Given the description of an element on the screen output the (x, y) to click on. 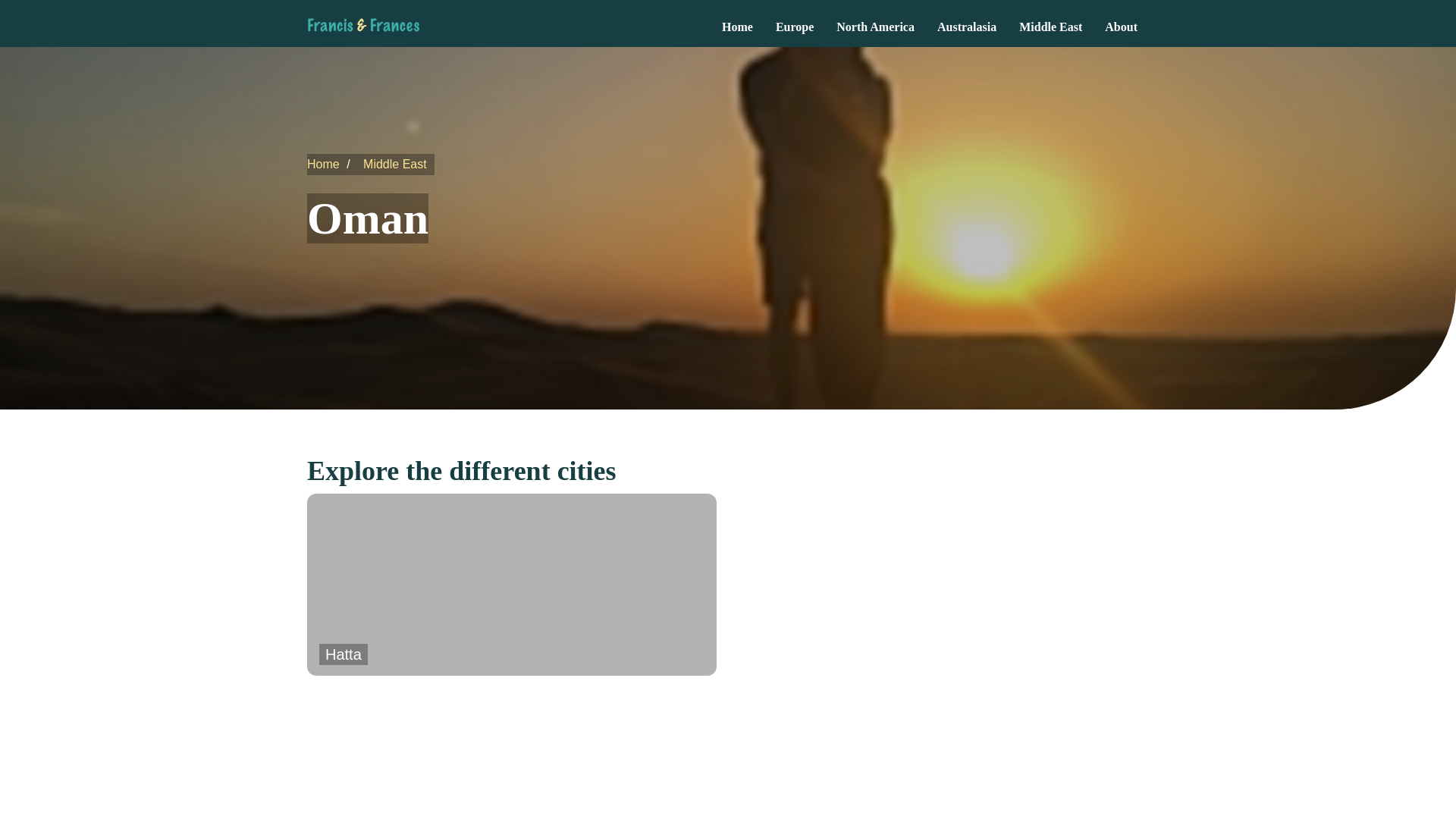
Europe (794, 23)
Home (737, 23)
